Given the description of an element on the screen output the (x, y) to click on. 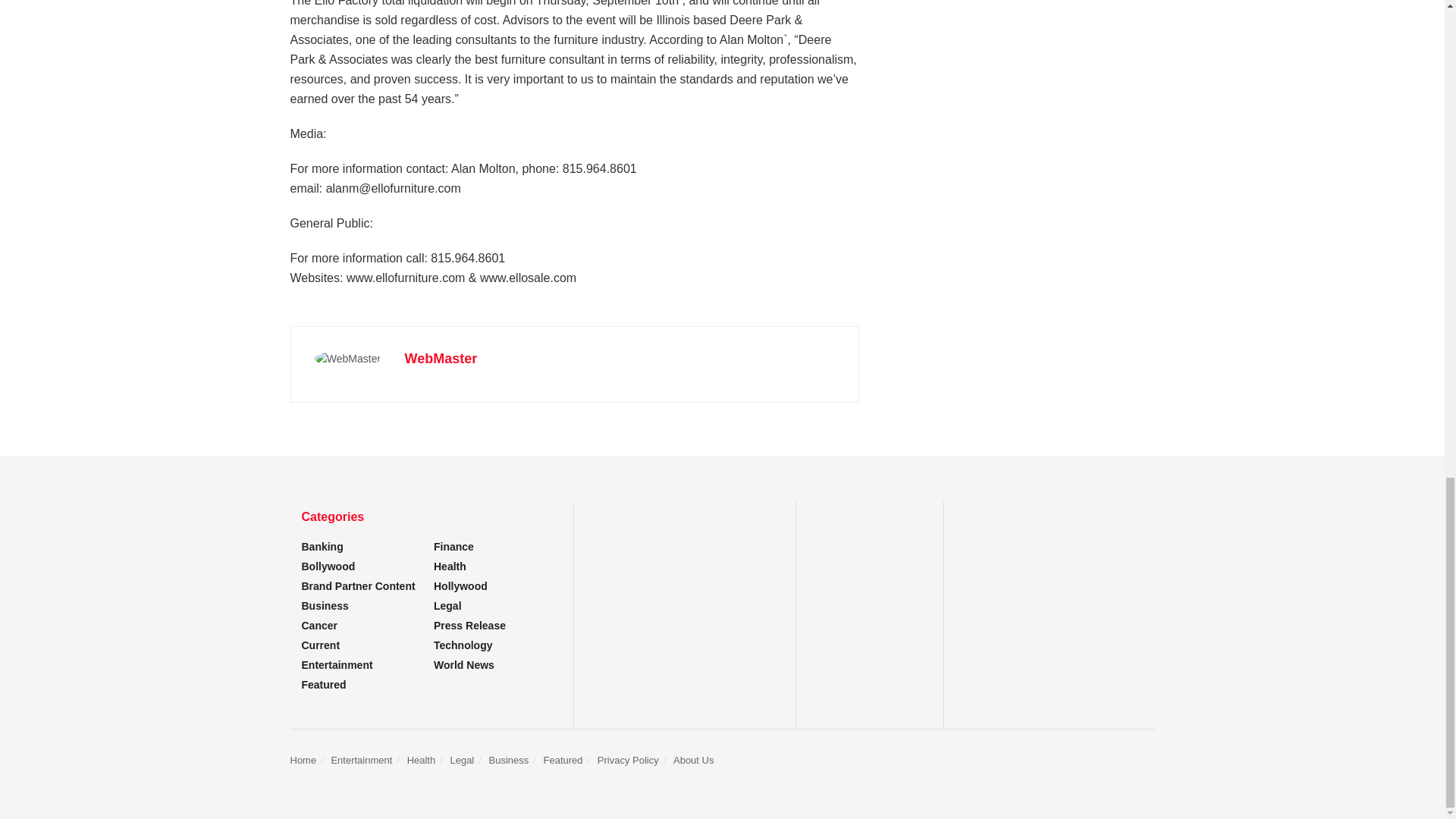
WebMaster (440, 358)
Banking (322, 546)
Bollywood (328, 566)
